Given the description of an element on the screen output the (x, y) to click on. 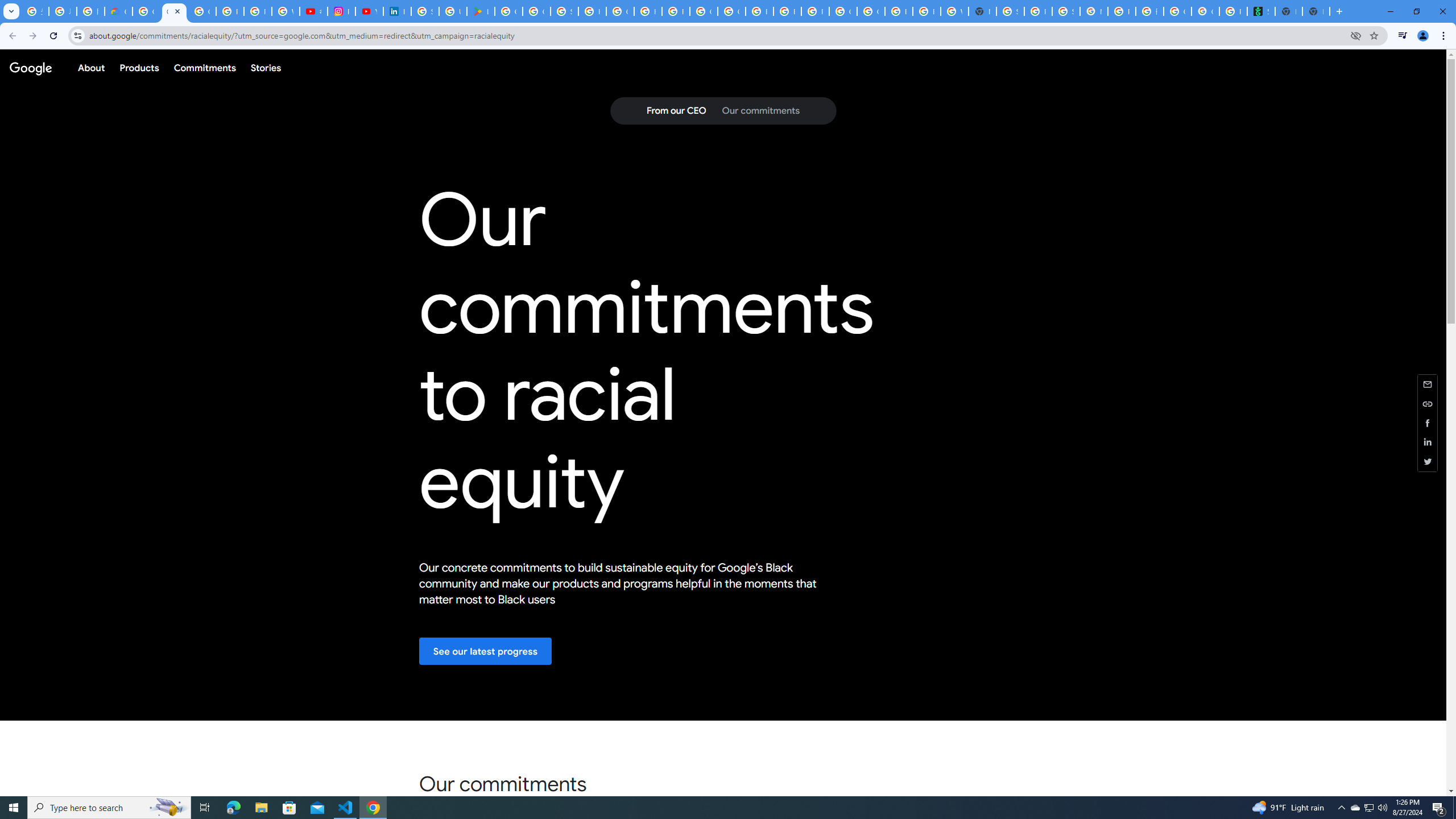
New Tab (982, 11)
